Given the description of an element on the screen output the (x, y) to click on. 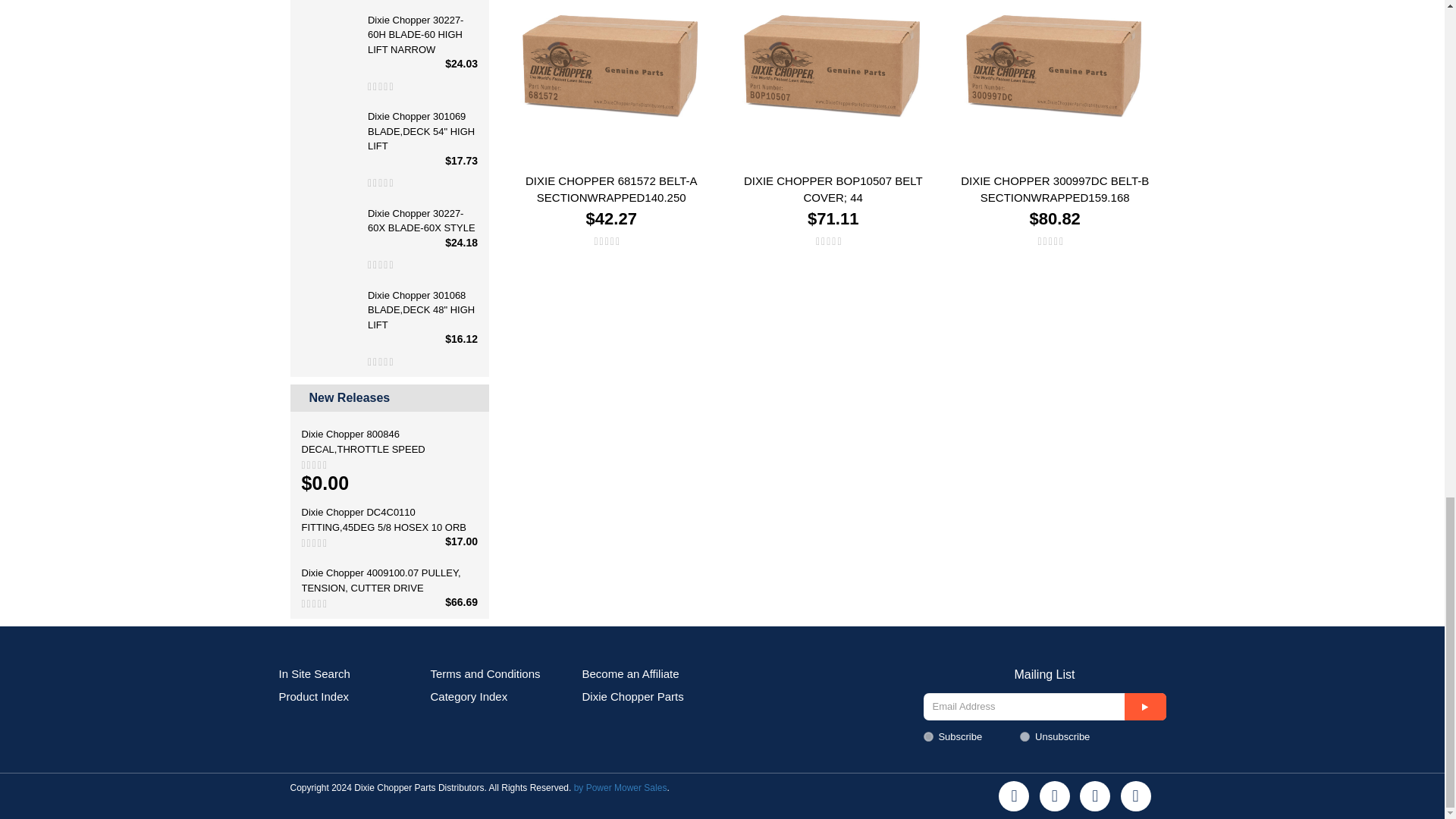
Like Us on Facebook (1013, 796)
Subscribe to our Blog (1136, 796)
0 (1024, 737)
1 (928, 737)
Follow Us on Twitter (1054, 796)
Subscribe to our Channel (1094, 796)
